Given the description of an element on the screen output the (x, y) to click on. 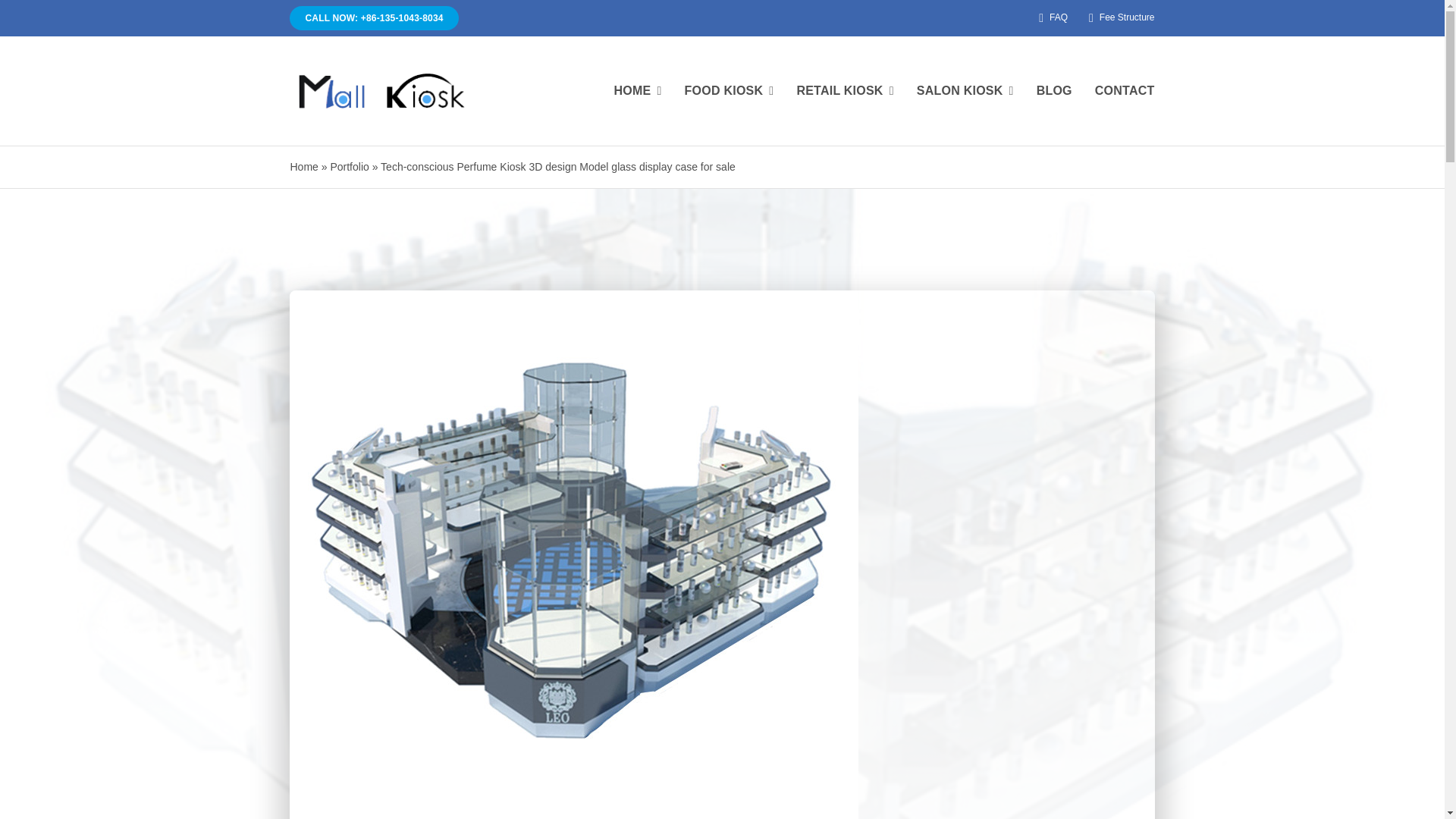
FOOD KIOSK (729, 90)
SALON KIOSK (965, 90)
HOME (636, 90)
FAQ (1049, 18)
Fee Structure (1118, 18)
RETAIL KIOSK (844, 90)
